Given the description of an element on the screen output the (x, y) to click on. 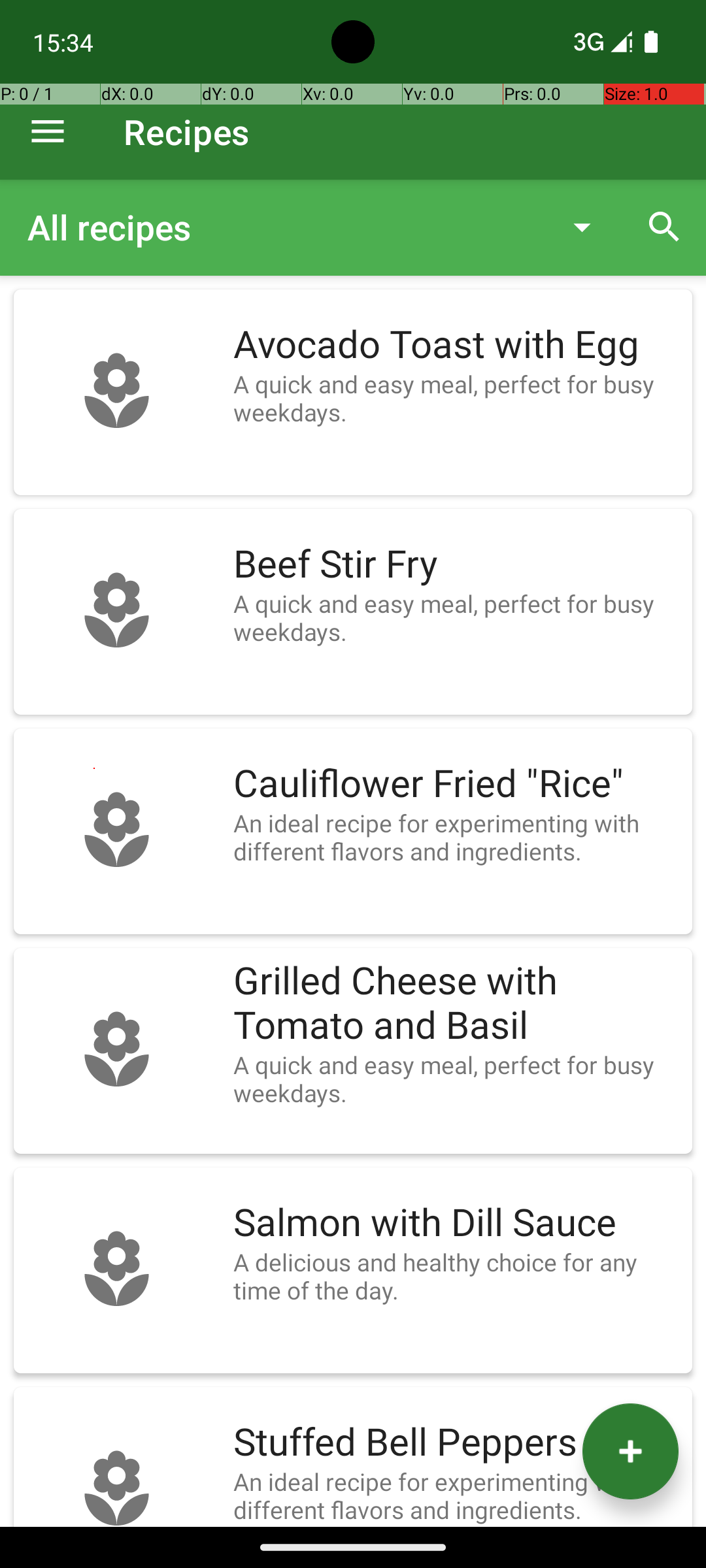
Avocado Toast with Egg Element type: android.widget.TextView (455, 344)
Cauliflower Fried "Rice" Element type: android.widget.TextView (455, 783)
Grilled Cheese with Tomato and Basil Element type: android.widget.TextView (455, 1003)
Salmon with Dill Sauce Element type: android.widget.TextView (455, 1222)
Stuffed Bell Peppers Element type: android.widget.TextView (455, 1442)
